Given the description of an element on the screen output the (x, y) to click on. 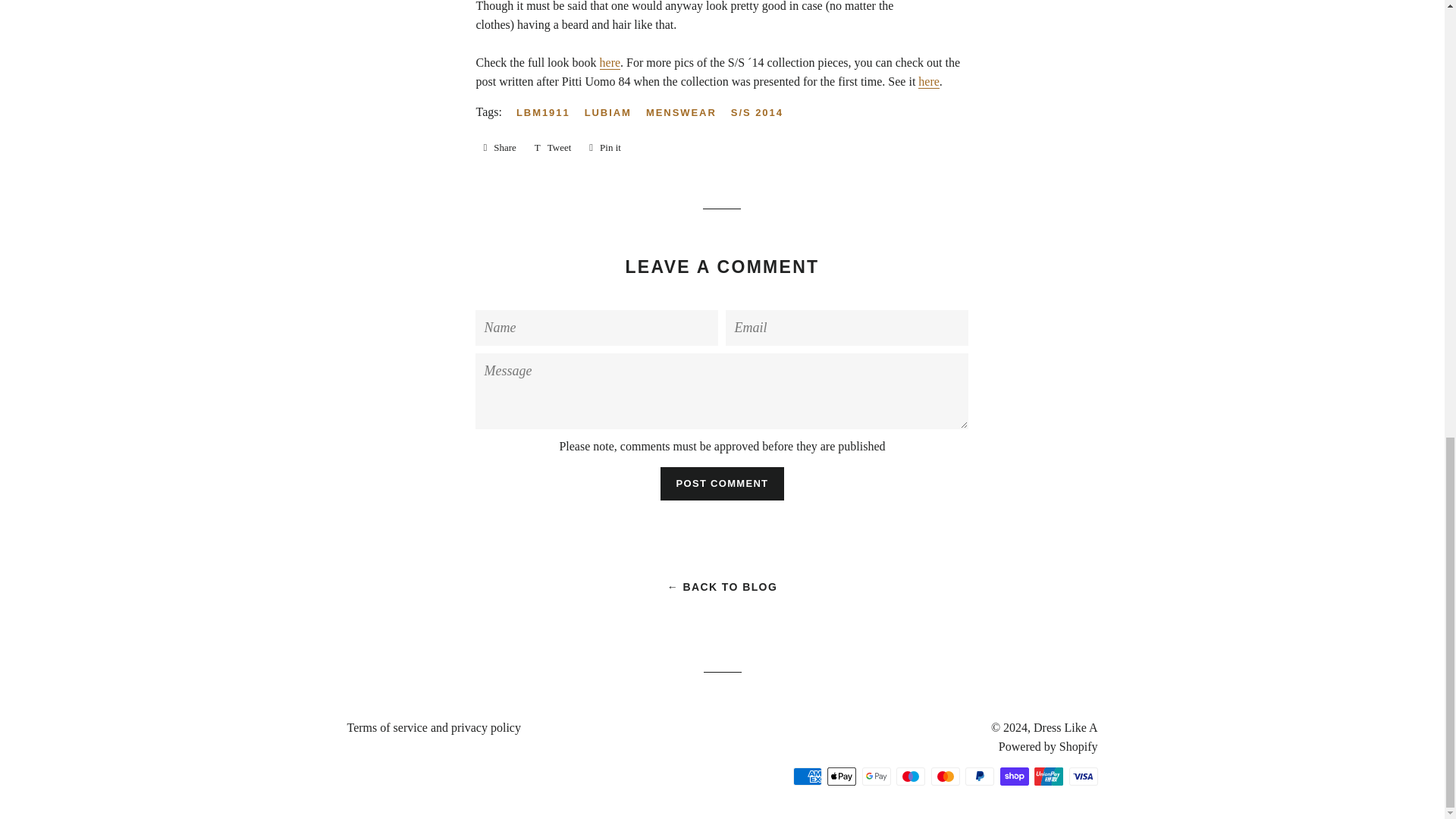
here (610, 62)
LUBIAM (614, 112)
Shop Pay (1012, 776)
Post comment (722, 483)
PayPal (979, 776)
Dress Like A (1065, 727)
Pin on Pinterest (604, 147)
Terms of service and privacy policy (434, 727)
